Given the description of an element on the screen output the (x, y) to click on. 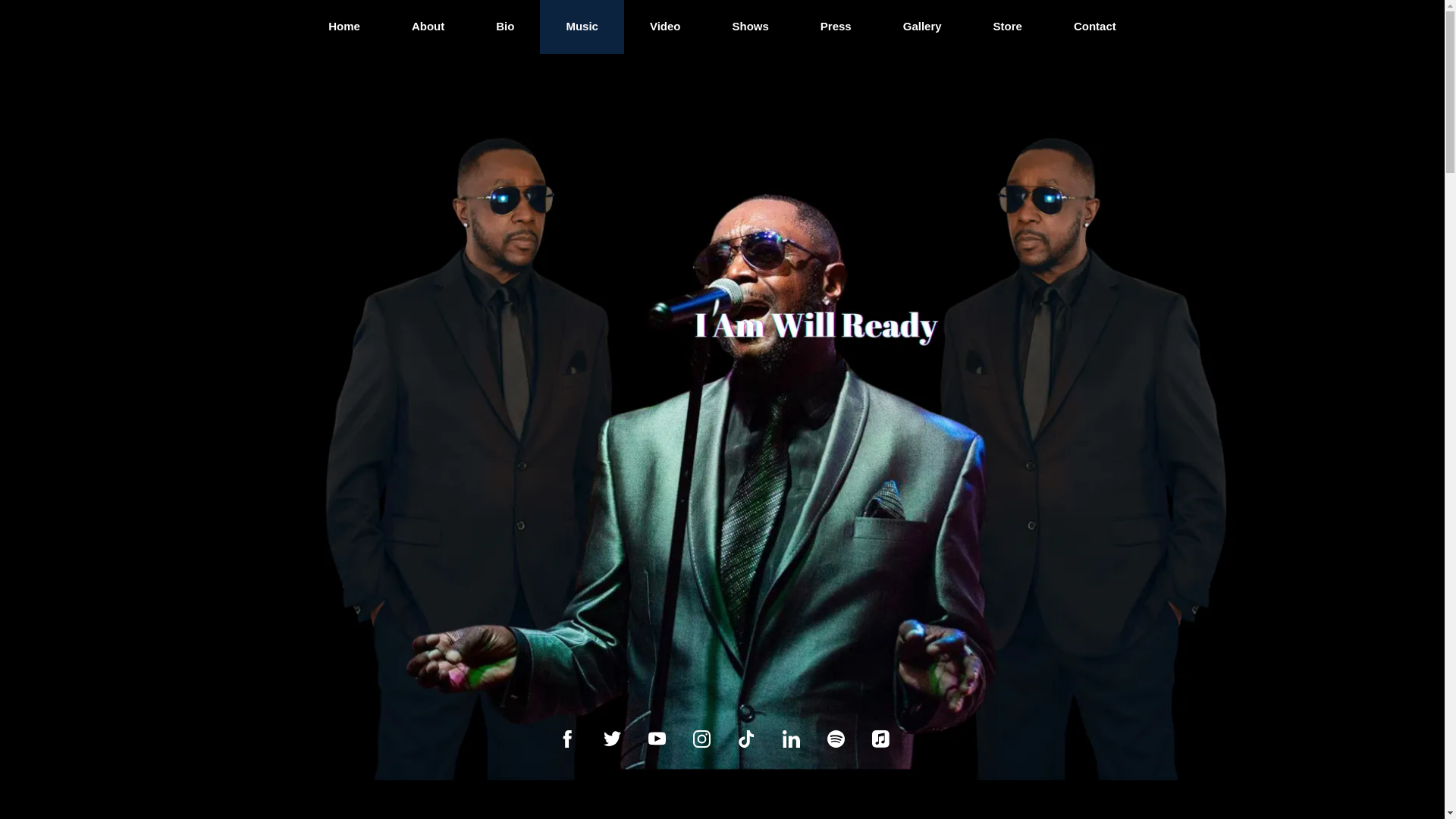
Press (835, 34)
Gallery (922, 33)
Store (1008, 32)
Video (665, 39)
Contact (1094, 31)
Shows (750, 37)
